Given the description of an element on the screen output the (x, y) to click on. 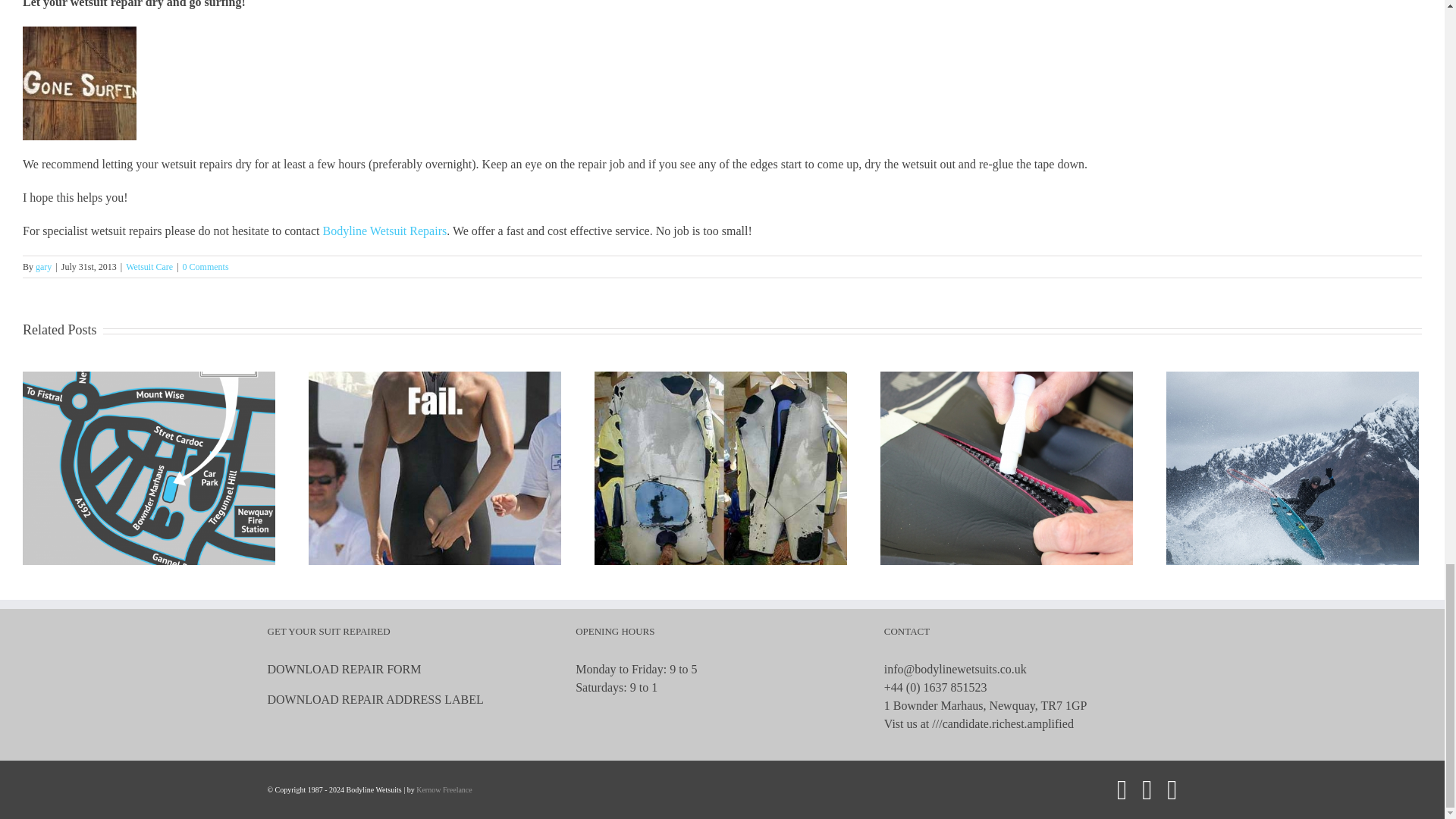
gary (42, 266)
bodyline wetsuit repairs (383, 230)
Wetsuit Care (149, 266)
0 Comments (205, 266)
Bodyline Wetsuit Repairs (383, 230)
Posts by gary (42, 266)
